Given the description of an element on the screen output the (x, y) to click on. 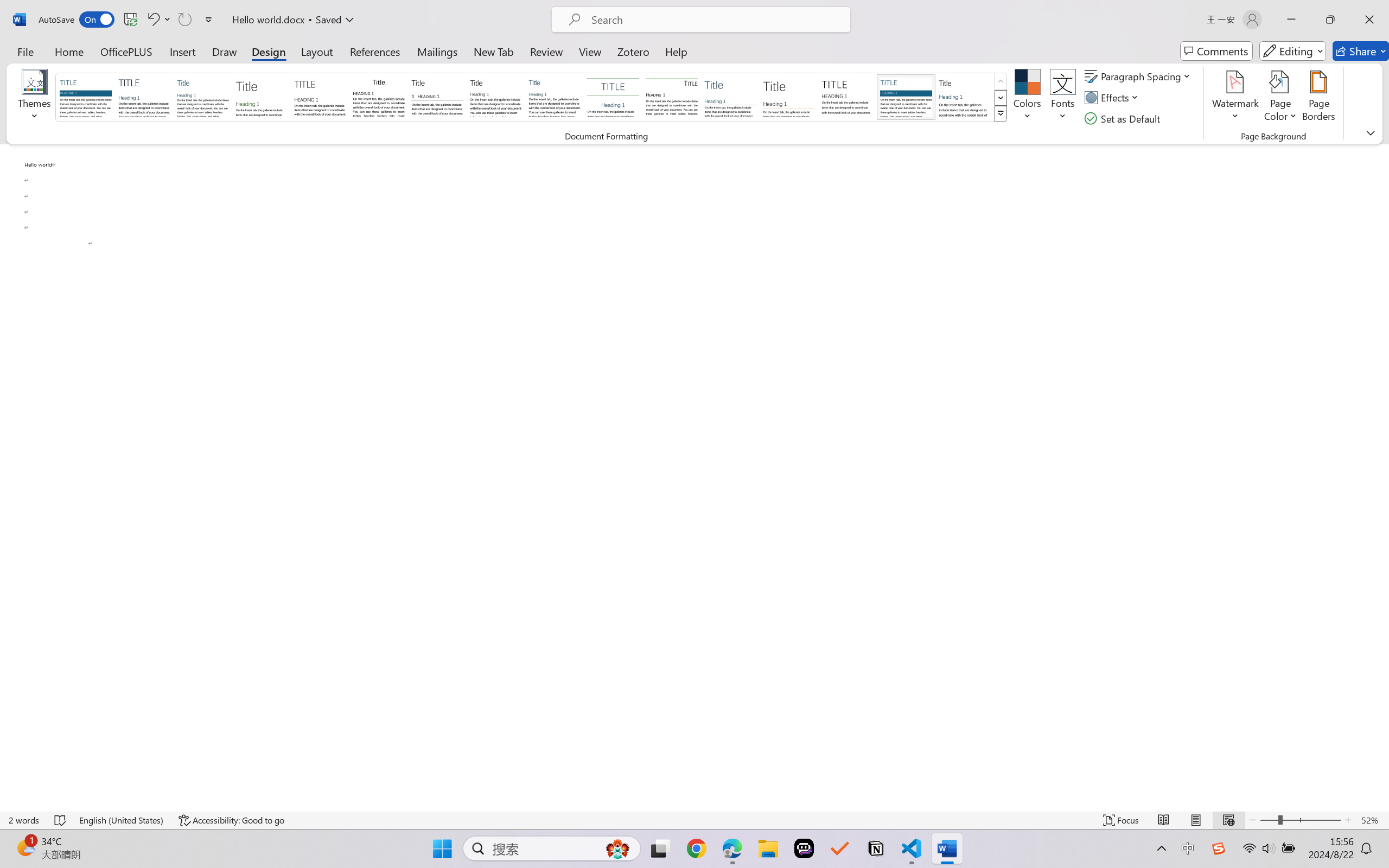
AutomationID: DynamicSearchBoxGleamImage (617, 848)
Comments (1216, 50)
Minimalist (847, 96)
Zoom 52% (1372, 819)
Focus  (1121, 819)
Basic (Stylish) (260, 96)
Language English (United States) (121, 819)
Layout (316, 51)
AutomationID: QuickStylesSets (531, 97)
Black & White (Capitalized) (320, 96)
Watermark (1235, 97)
References (375, 51)
Insert (182, 51)
